Given the description of an element on the screen output the (x, y) to click on. 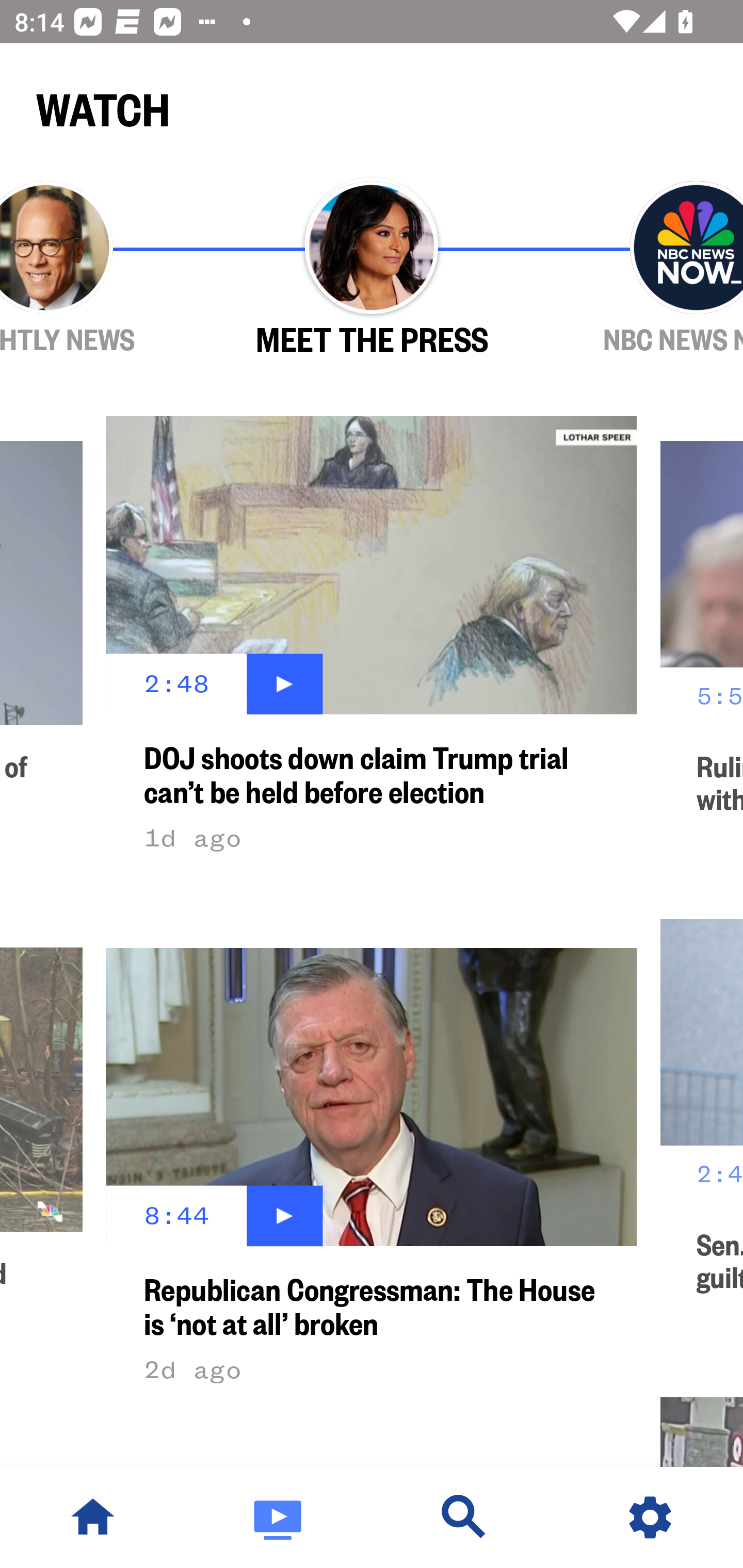
NIGHTLY NEWS (104, 268)
MEET THE PRESS (371, 268)
NBC NEWS NOW (638, 268)
NBC News Home (92, 1517)
Discover (464, 1517)
Settings (650, 1517)
